Given the description of an element on the screen output the (x, y) to click on. 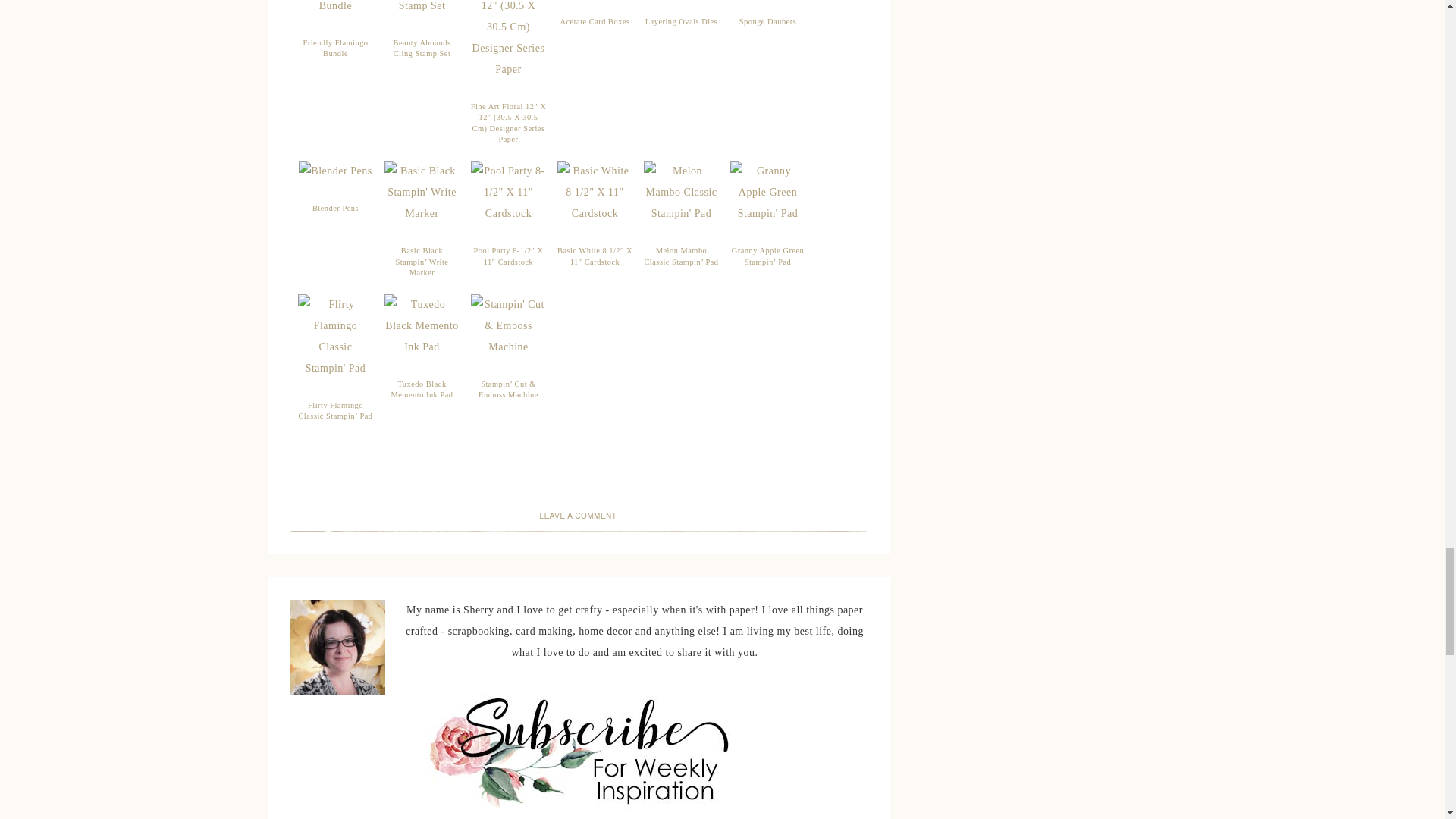
Beauty Abounds Cling Stamp Set (421, 48)
Friendly Flamingo Bundle  (334, 5)
Friendly Flamingo Bundle  (334, 8)
Beauty Abounds Cling Stamp Set (422, 5)
Beauty Abounds Cling Stamp Set (422, 8)
Friendly Flamingo Bundle  (335, 48)
